Given the description of an element on the screen output the (x, y) to click on. 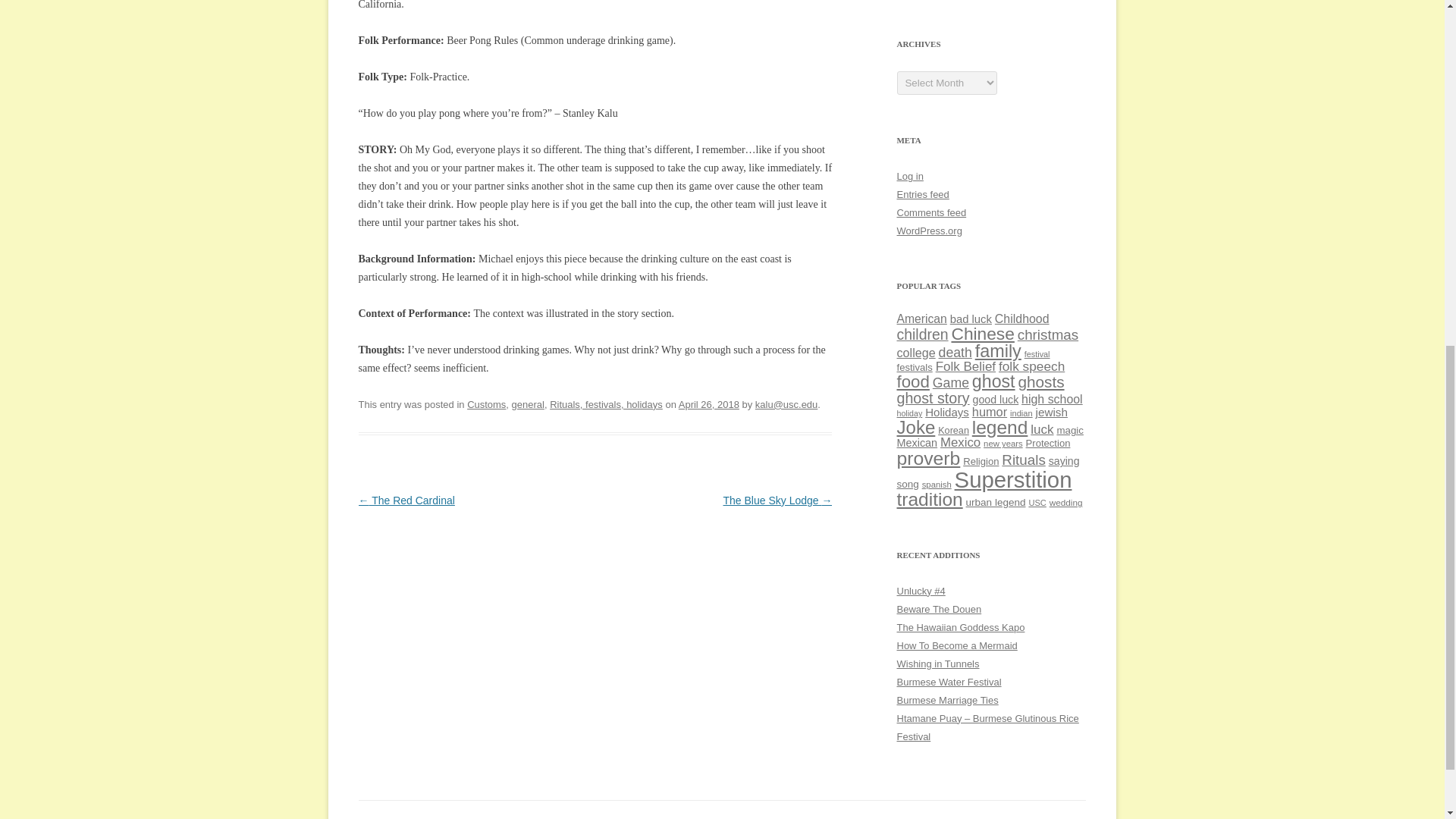
Comments feed (931, 212)
WordPress.org (928, 230)
Customs (486, 404)
college (915, 352)
christmas (1047, 334)
festivals (913, 367)
Game (951, 382)
ghosts (1040, 381)
children (921, 334)
Holidays (946, 411)
